Given the description of an element on the screen output the (x, y) to click on. 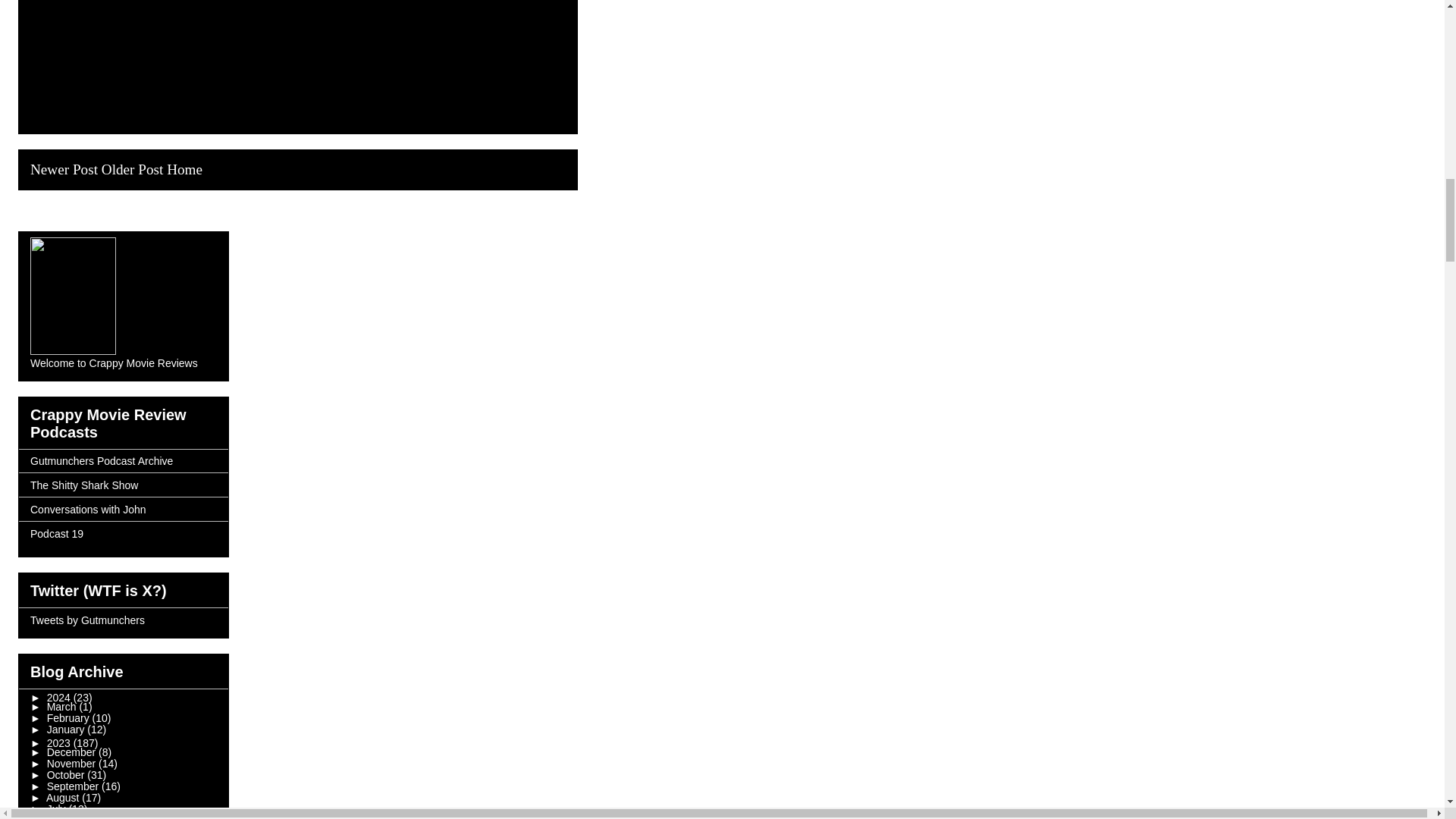
January (66, 729)
Older Post (132, 168)
Conversations with John (88, 509)
Newer Post (63, 168)
February (69, 717)
Tweets by Gutmunchers (87, 620)
The Shitty Shark Show (84, 485)
Podcast 19 (56, 533)
2023 (60, 743)
Newer Post (63, 168)
Gutmunchers Podcast Archive (101, 460)
Home (184, 168)
Older Post (132, 168)
2024 (60, 697)
March (63, 706)
